Given the description of an element on the screen output the (x, y) to click on. 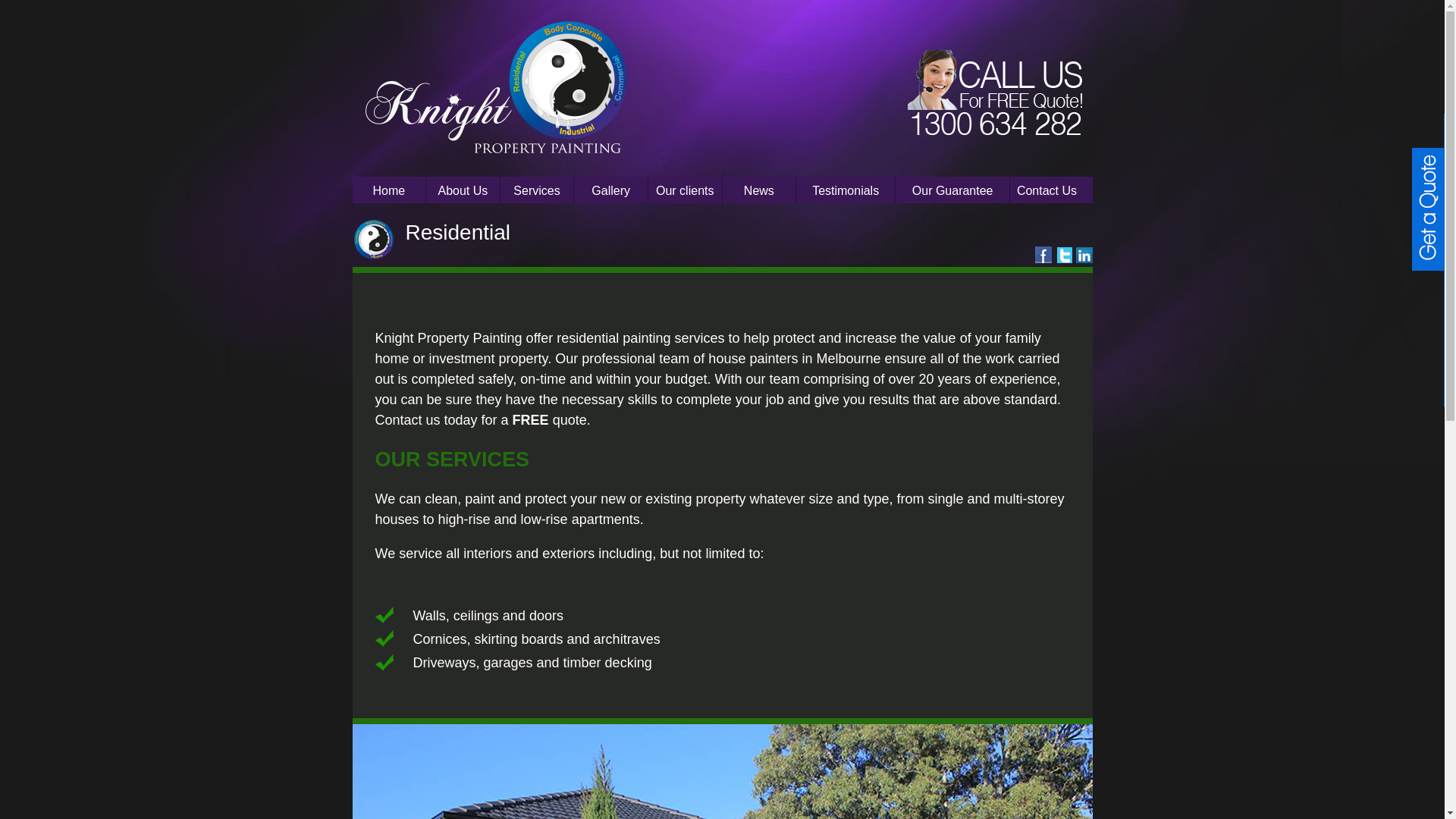
News Element type: text (759, 190)
Services Element type: text (537, 190)
Contact Us Element type: text (1046, 190)
About Us Element type: text (462, 190)
Our clients Element type: text (684, 190)
Our Guarantee Element type: text (952, 190)
Testimonials Element type: text (845, 190)
Home Element type: text (388, 190)
Facebook Element type: hover (1042, 254)
Twistter Element type: hover (1063, 254)
Linnkedin Element type: hover (1083, 254)
Gallery Element type: text (610, 190)
